Given the description of an element on the screen output the (x, y) to click on. 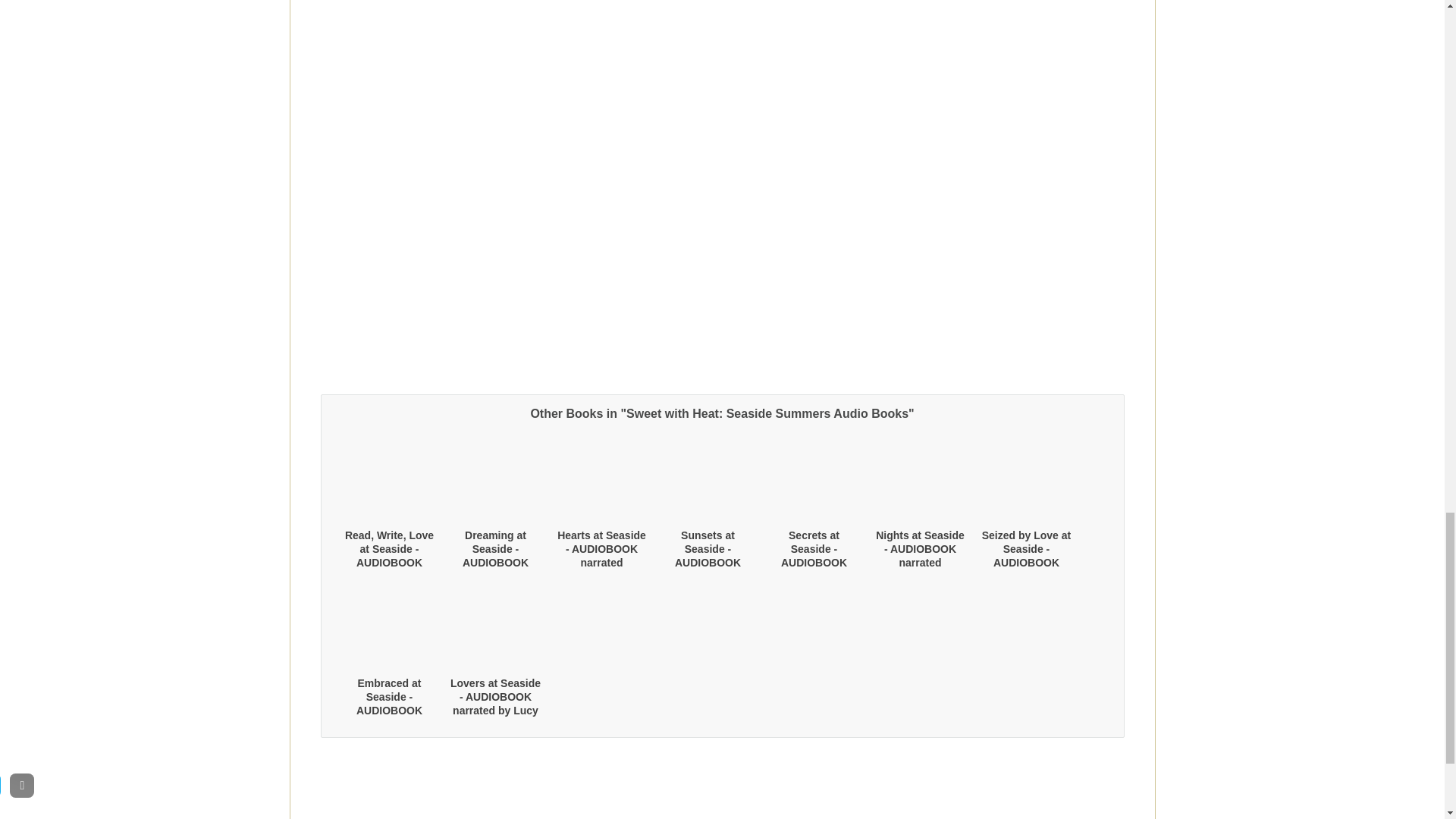
Dreaming at Seaside - AUDIOBOOK narrated by Melissa Moran (495, 563)
Hearts at Seaside - AUDIOBOOK narrated by Melissa Moran (601, 556)
